Given the description of an element on the screen output the (x, y) to click on. 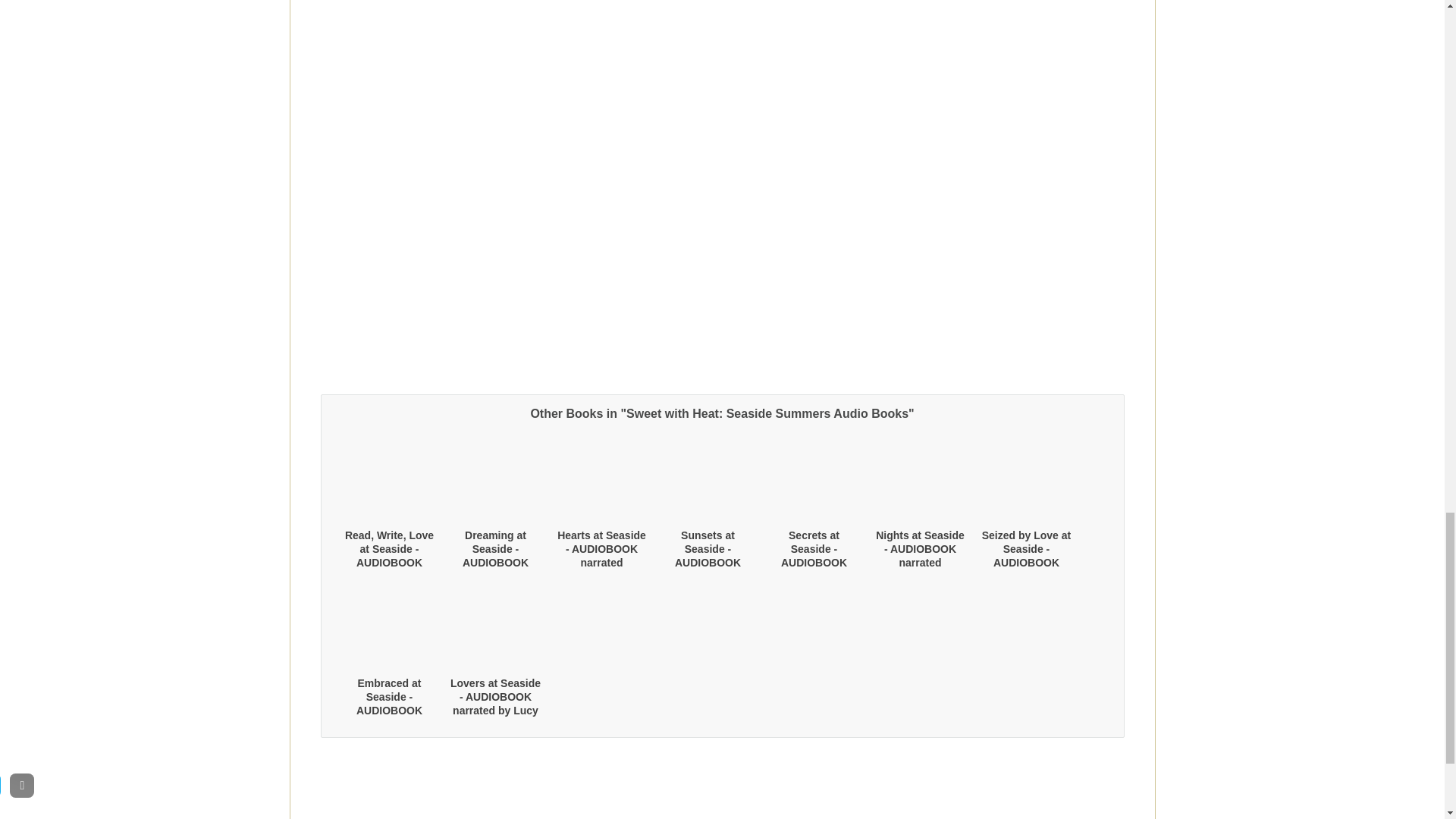
Dreaming at Seaside - AUDIOBOOK narrated by Melissa Moran (495, 563)
Hearts at Seaside - AUDIOBOOK narrated by Melissa Moran (601, 556)
